Given the description of an element on the screen output the (x, y) to click on. 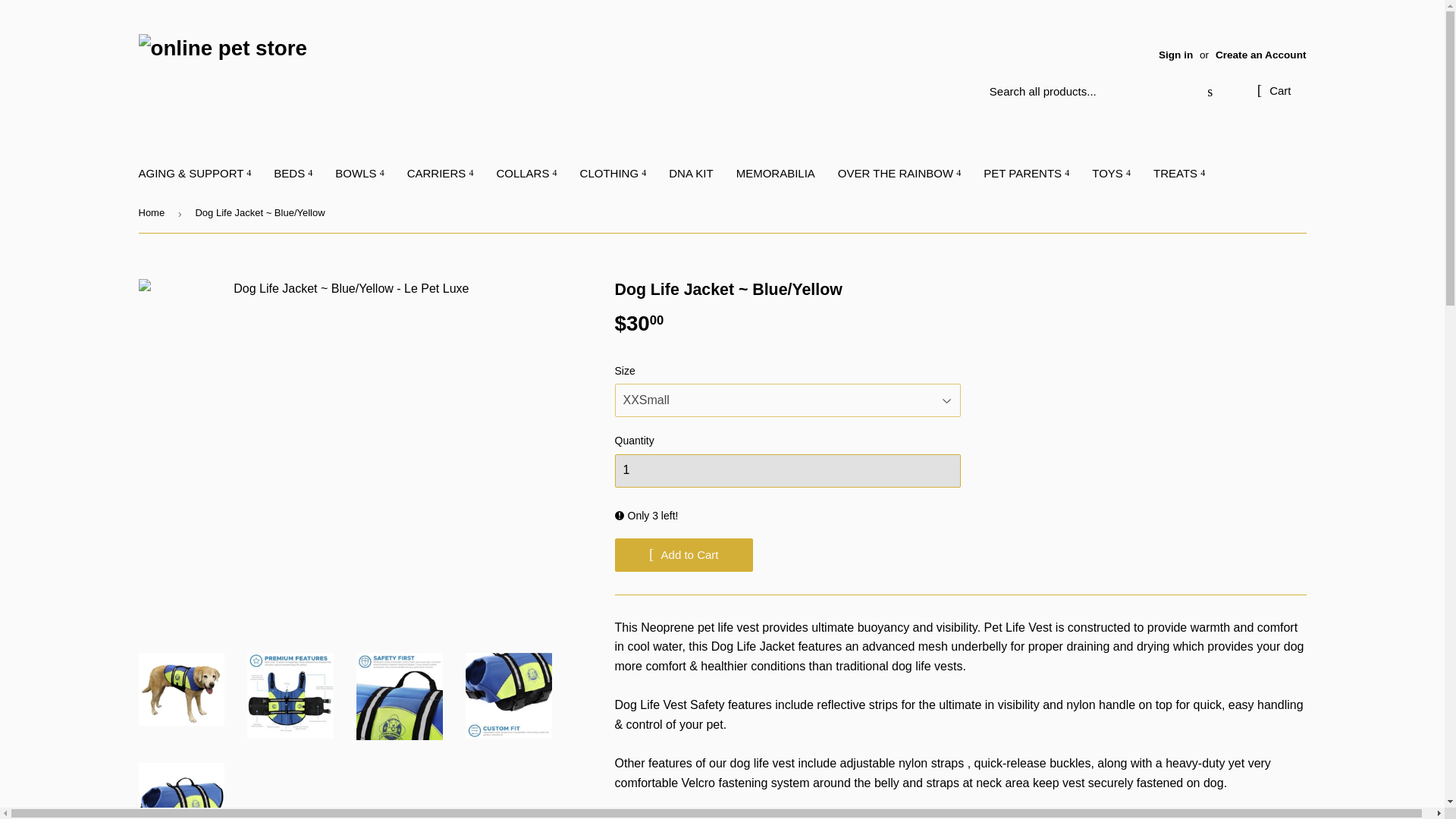
Create an Account (1260, 54)
Search (1209, 92)
Sign in (1175, 54)
Cart (1273, 91)
1 (786, 470)
